Given the description of an element on the screen output the (x, y) to click on. 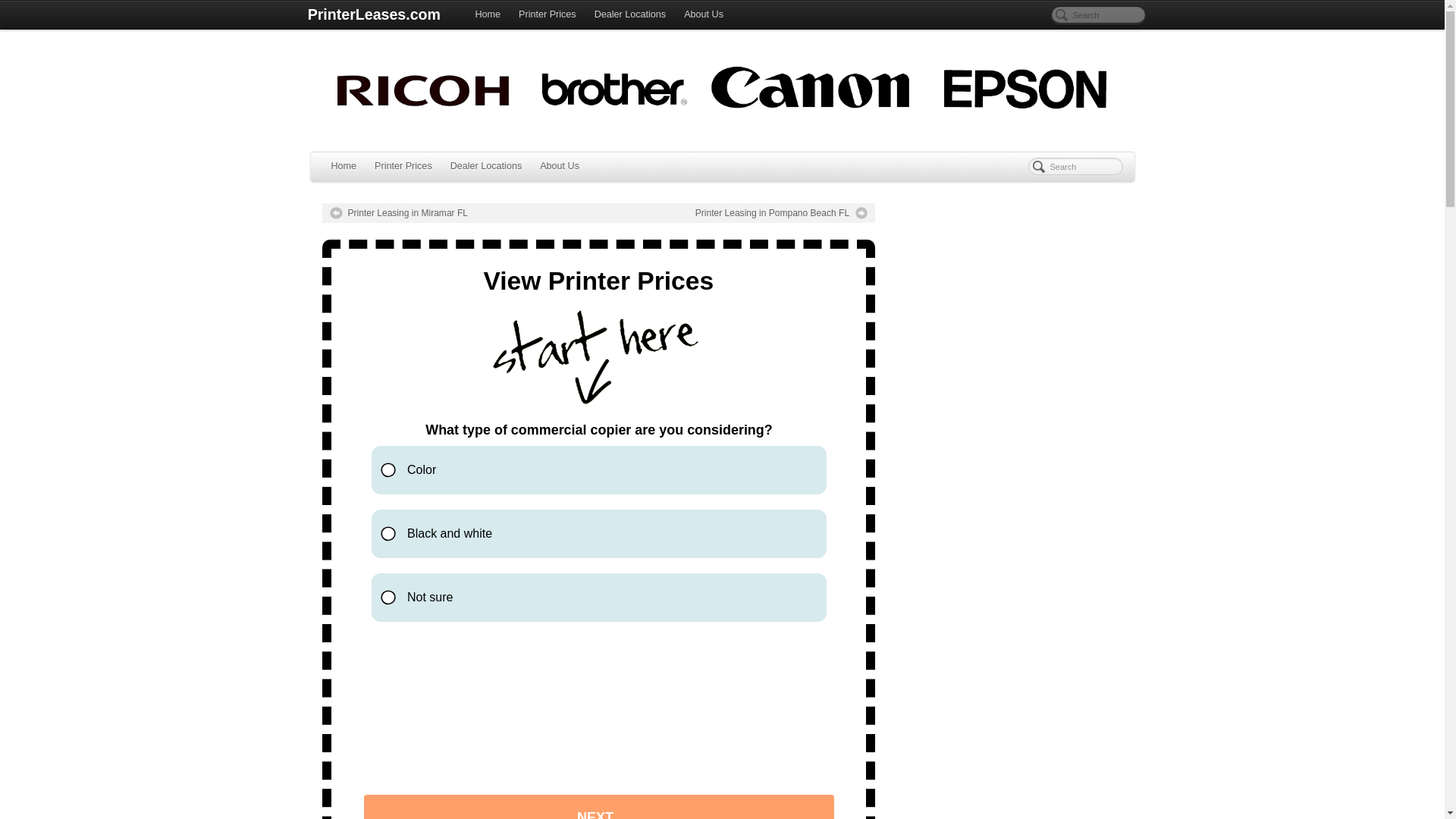
PrinterLeases.com (373, 14)
Printer Leasing in Miramar FL (398, 213)
PrinterLeases.com (373, 14)
Dealer Locations (630, 14)
Printer Prices (547, 14)
Printer Leasing in Pompano Beach FL (781, 213)
Home (487, 14)
Dealer Locations (486, 166)
About Us (559, 166)
